Given the description of an element on the screen output the (x, y) to click on. 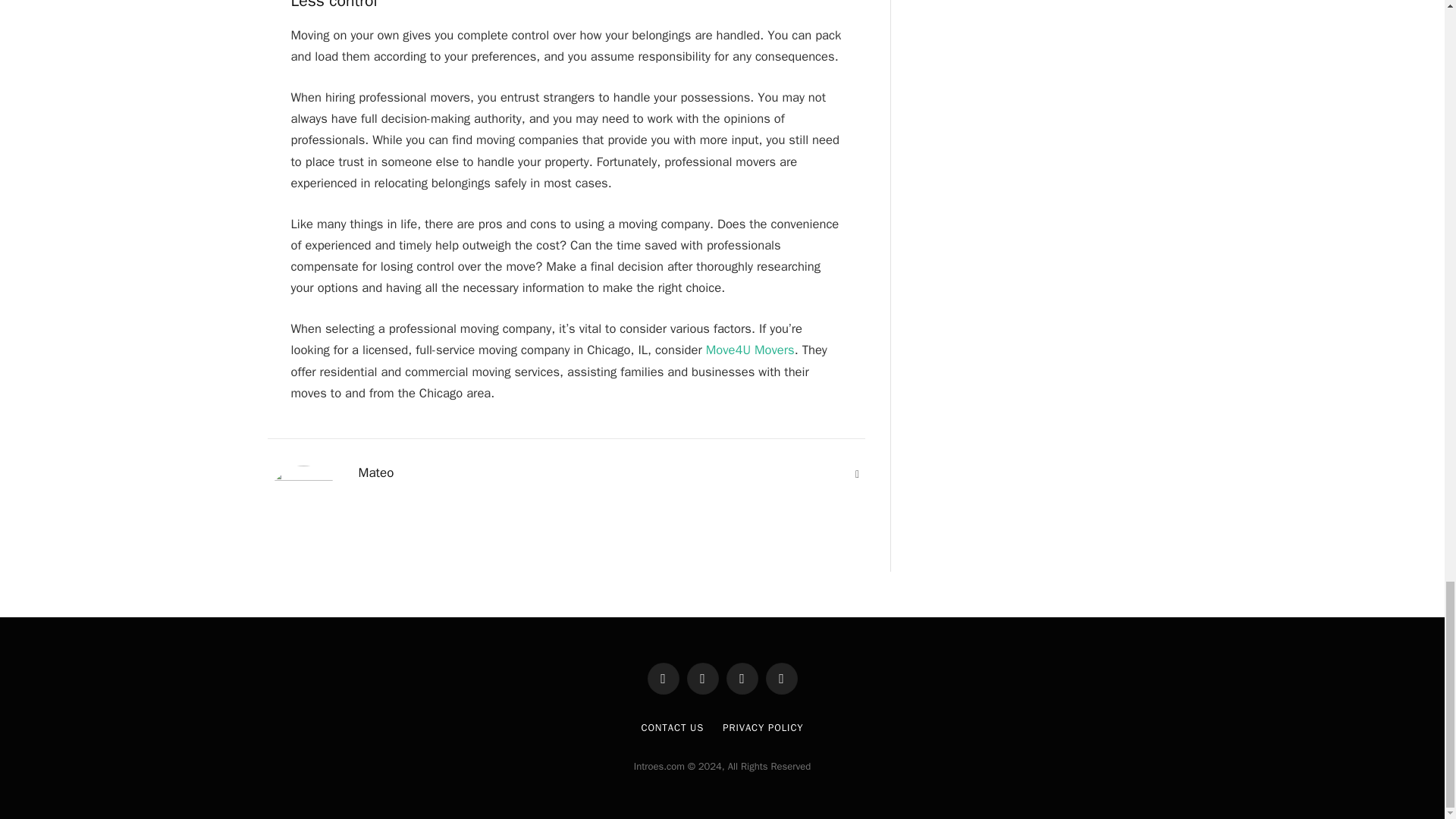
Mateo (375, 473)
Move4U Movers (750, 349)
Website (856, 474)
Posts by Mateo (375, 473)
Website (856, 474)
